Given the description of an element on the screen output the (x, y) to click on. 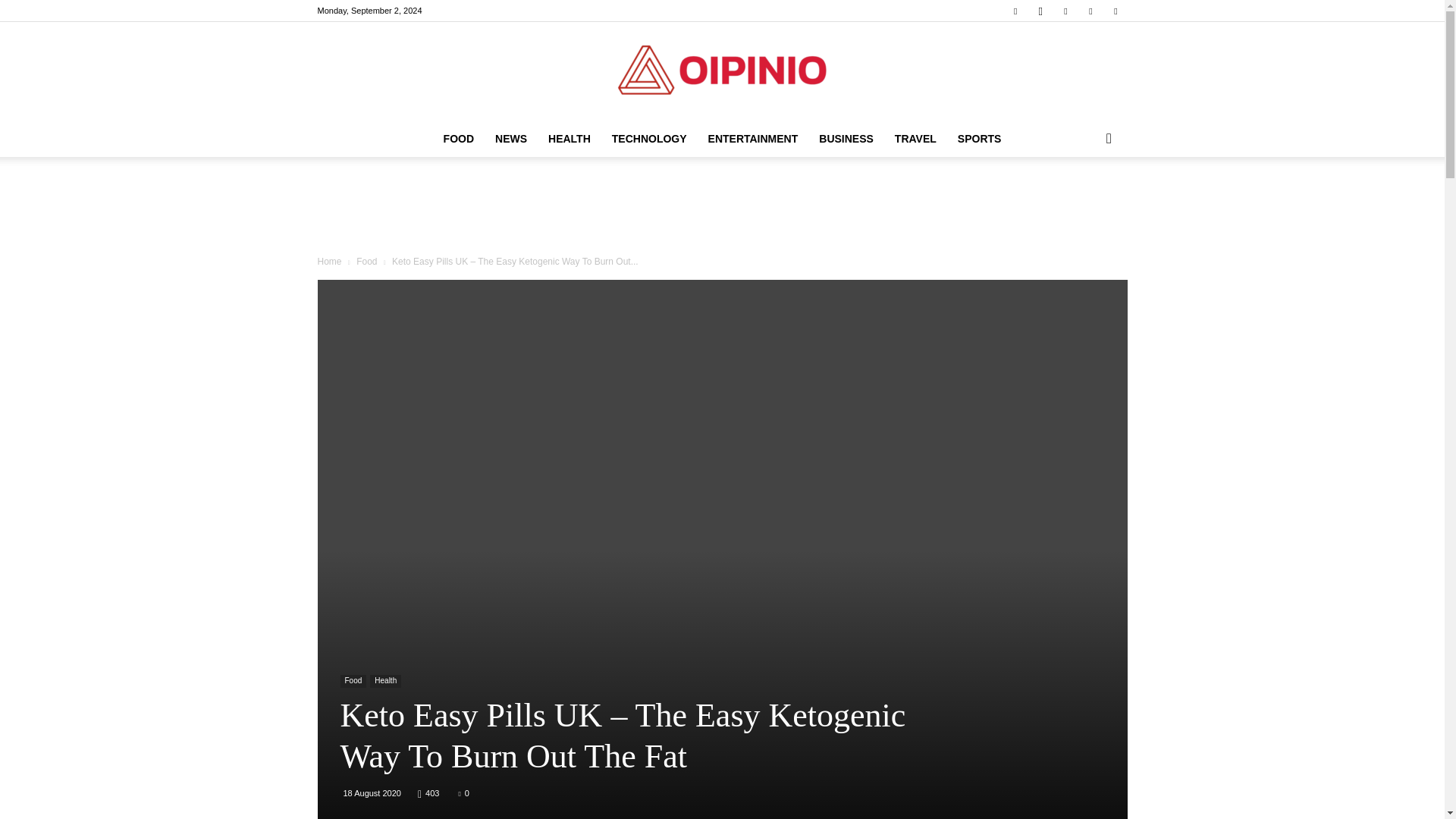
Search (1085, 199)
Pinterest (1065, 10)
Tumblr (1090, 10)
View all posts in Food (366, 261)
SPORTS (979, 138)
BUSINESS (845, 138)
Food (352, 680)
Health (385, 680)
NEWS (510, 138)
Facebook (1015, 10)
